Given the description of an element on the screen output the (x, y) to click on. 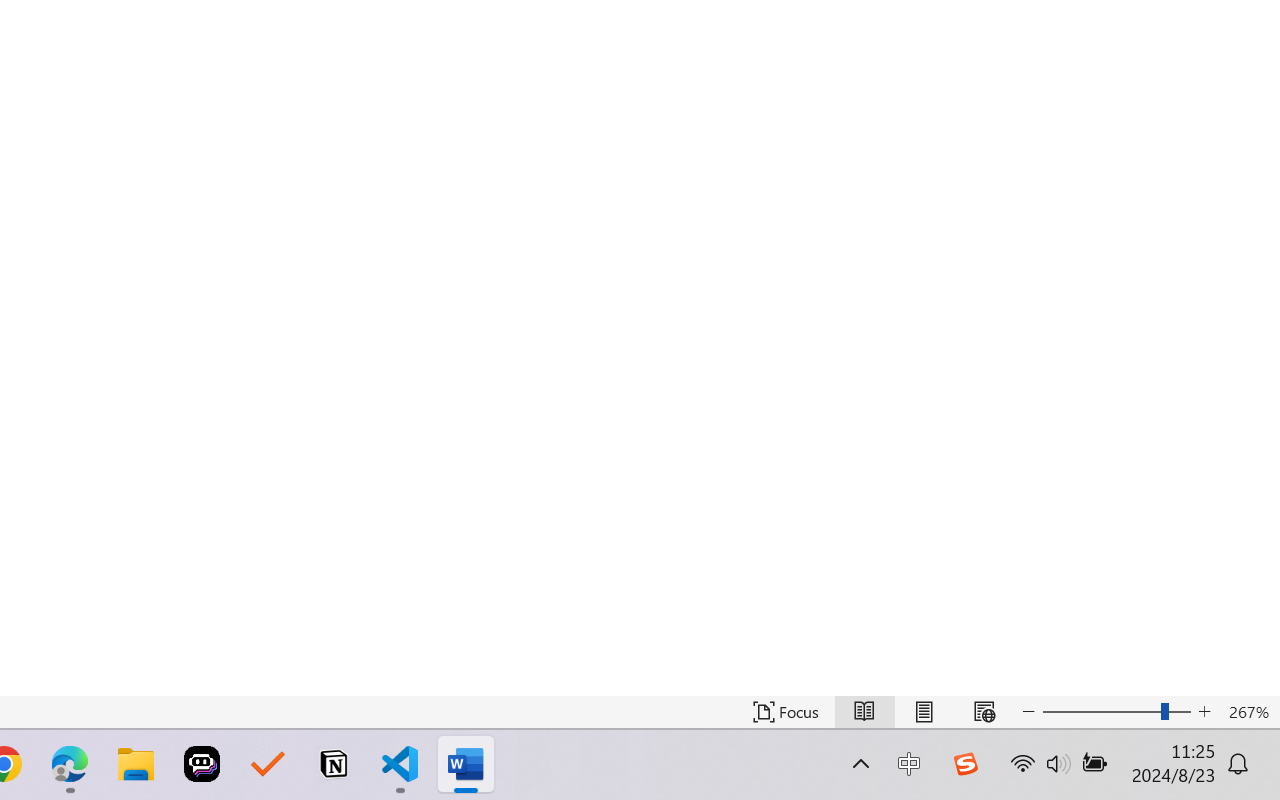
Text Size (1116, 712)
Increase Text Size (1204, 712)
Decrease Text Size (1028, 712)
